Given the description of an element on the screen output the (x, y) to click on. 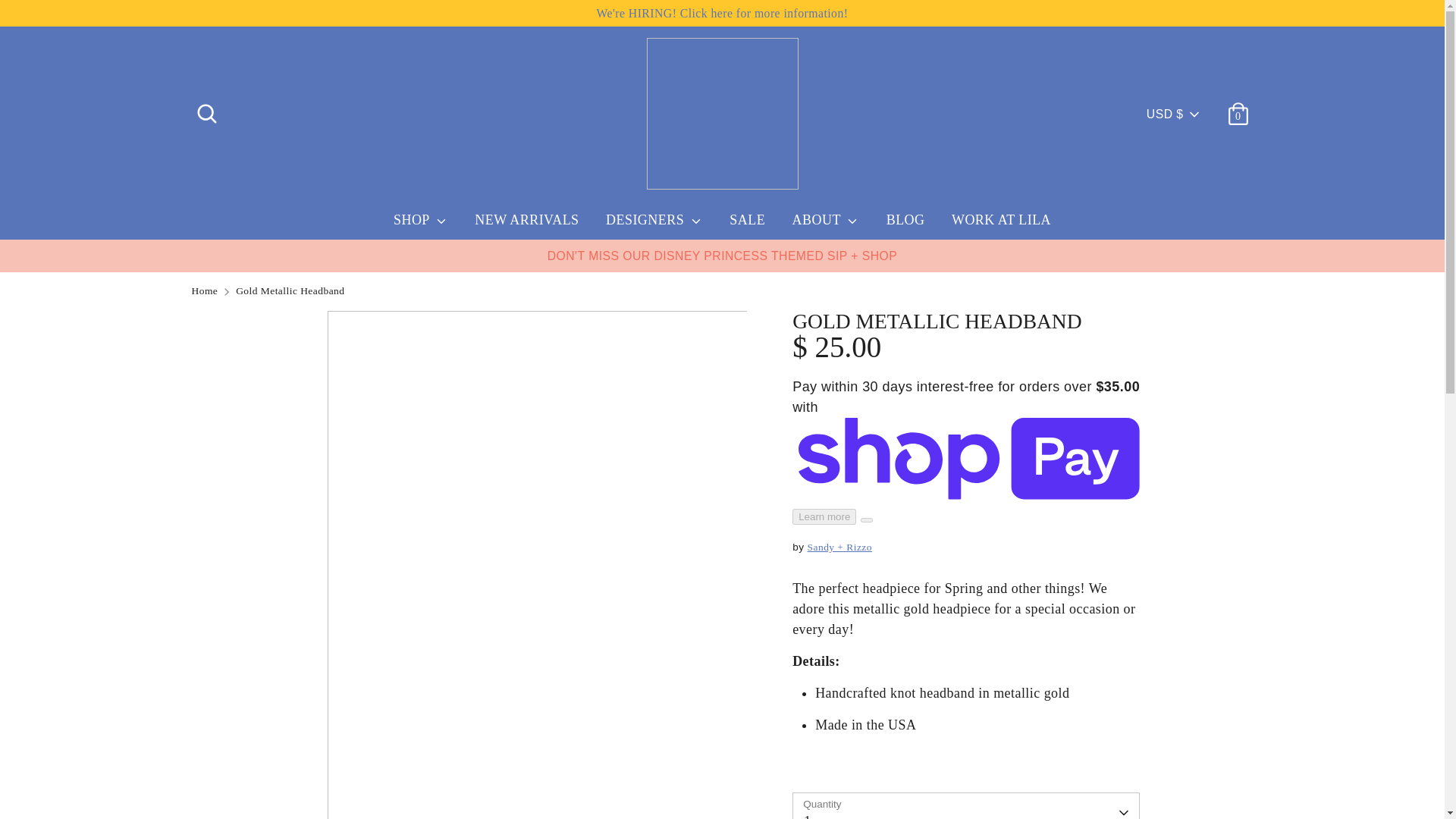
Diners Club (995, 769)
Discover (1030, 769)
Mastercard (1098, 769)
Meta Pay (1063, 769)
1 (965, 806)
PayPal (1133, 769)
American Express (961, 769)
Search (205, 108)
0 (1237, 108)
